Given the description of an element on the screen output the (x, y) to click on. 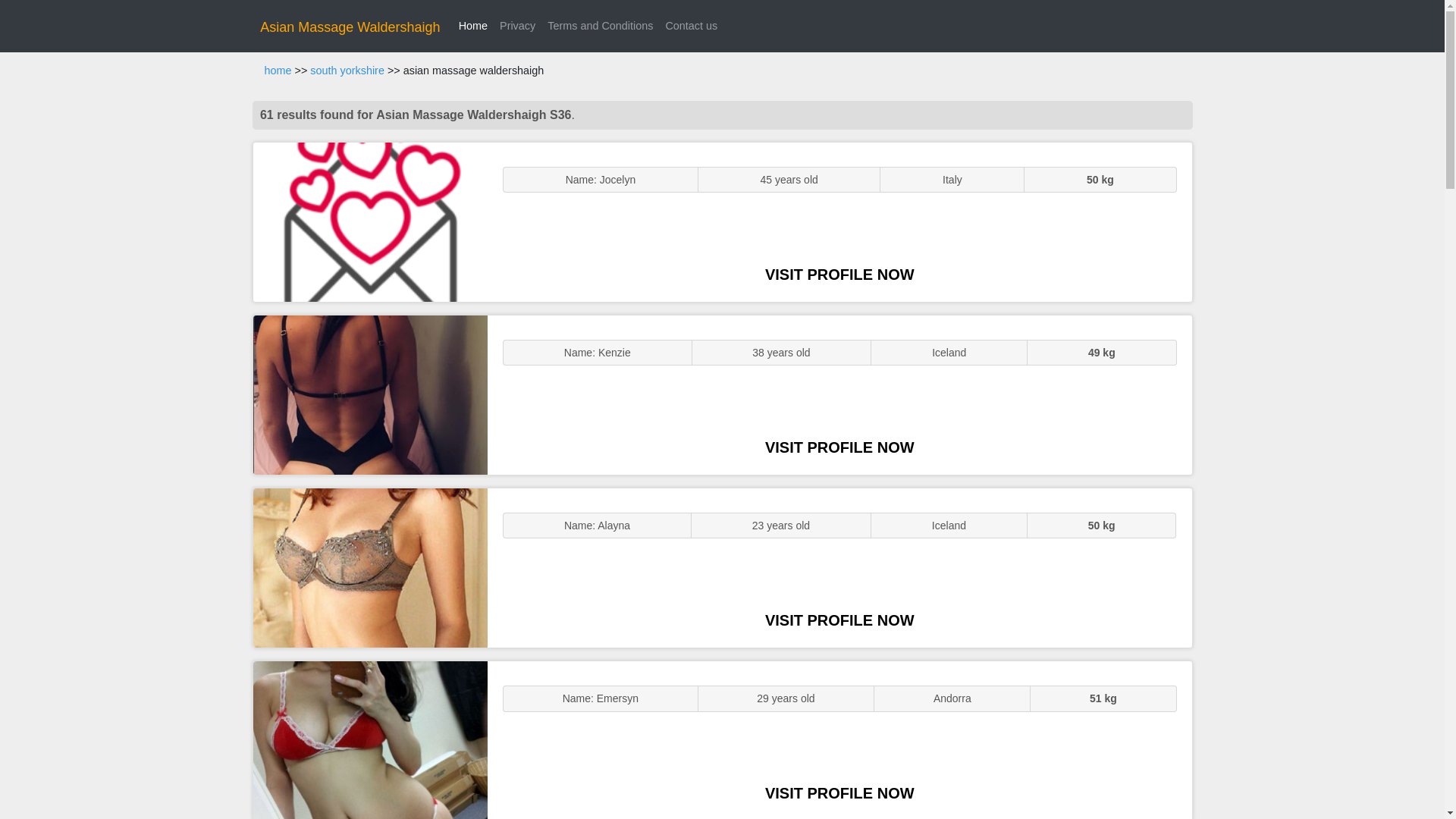
VISIT PROFILE NOW (839, 619)
VISIT PROFILE NOW (839, 274)
Sluts (370, 739)
VISIT PROFILE NOW (839, 446)
GFE (370, 395)
south yorkshire (347, 70)
home (277, 70)
Terms and Conditions (600, 25)
VISIT PROFILE NOW (839, 792)
Sexy (370, 567)
